Given the description of an element on the screen output the (x, y) to click on. 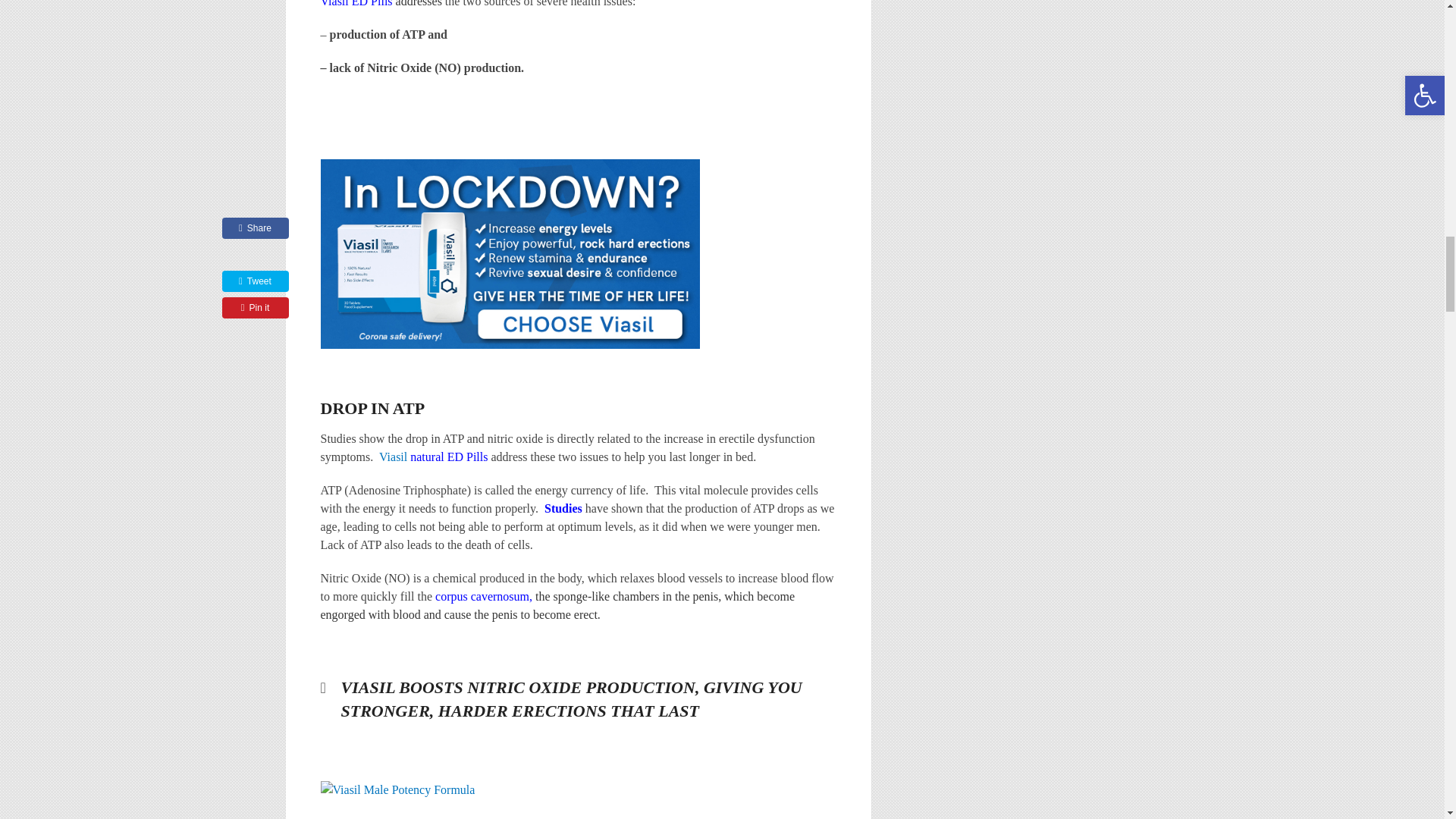
corpus cavernosum, (485, 595)
Viasil (394, 456)
Viasil ED Pills (414, 800)
Viasil ED Pills (357, 3)
Studies (563, 508)
Viasil (509, 253)
